Given the description of an element on the screen output the (x, y) to click on. 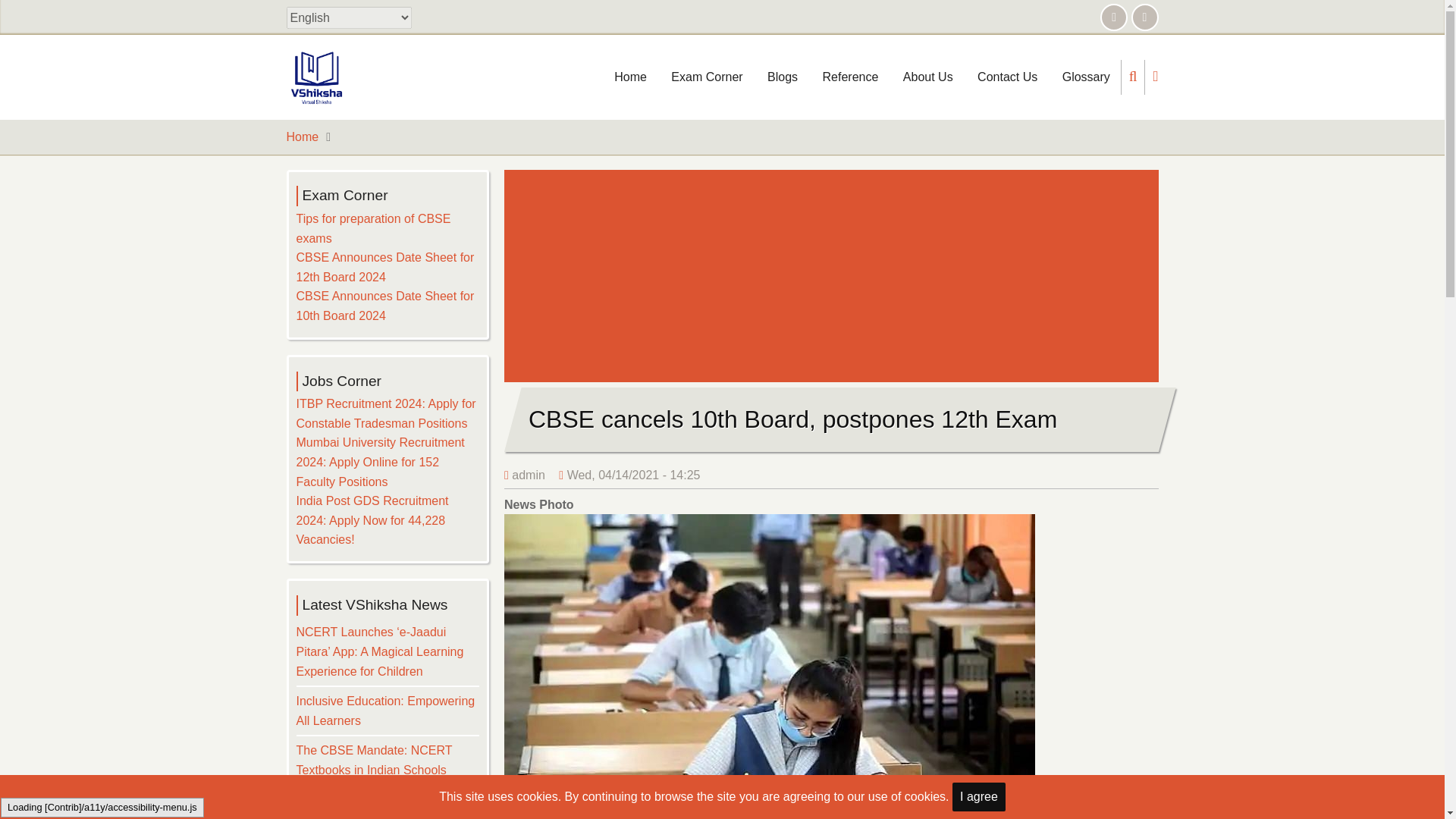
Contact Us (1007, 76)
Glossary (1086, 76)
About Us (927, 76)
Exam Corner (706, 76)
About Us (927, 76)
Inclusive Education: Empowering All Learners (384, 710)
The CBSE Mandate: NCERT Textbooks in Indian Schools (373, 759)
Latest Blog Posts (782, 76)
